Given the description of an element on the screen output the (x, y) to click on. 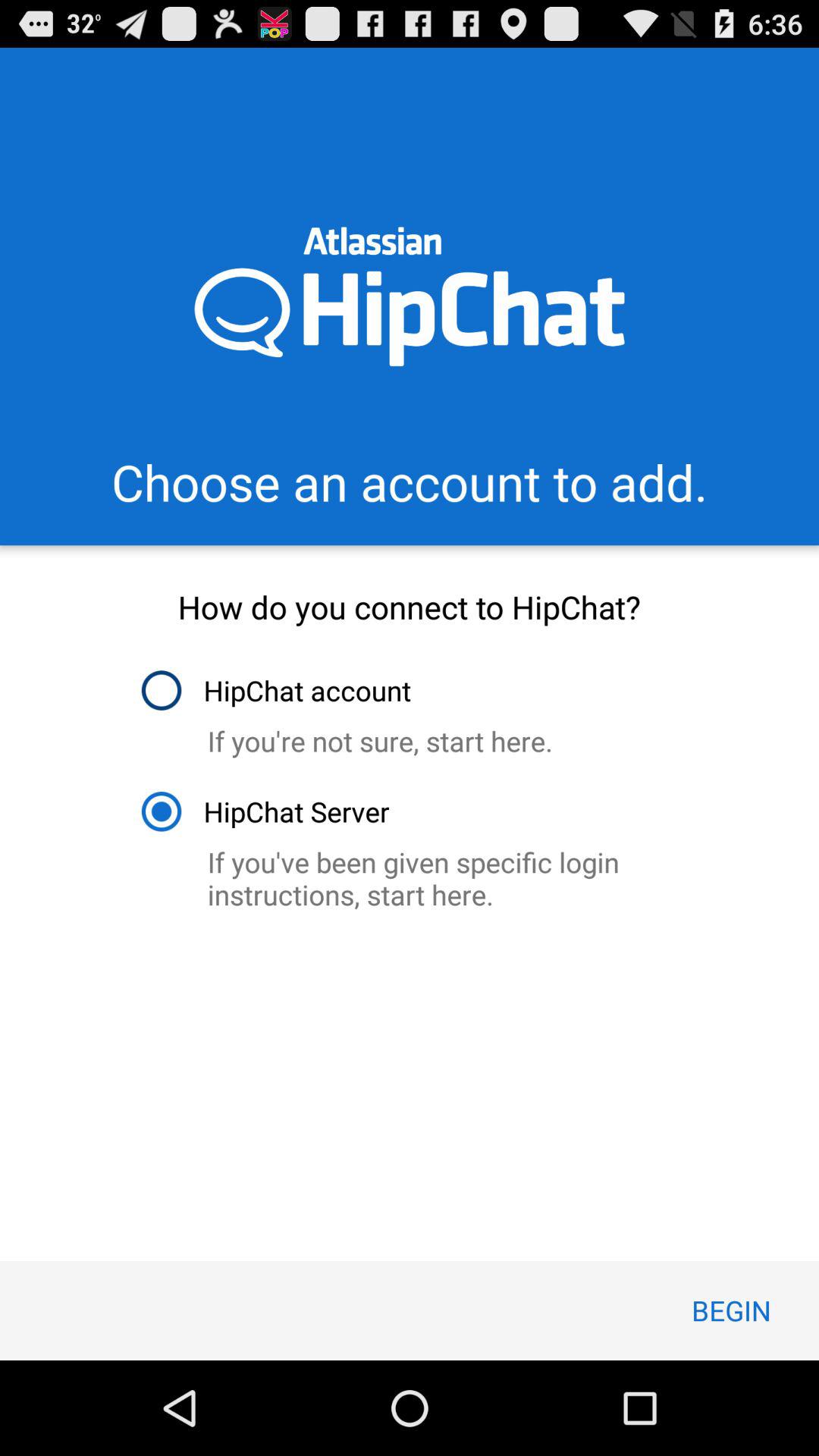
select the begin at the bottom right corner (731, 1310)
